Given the description of an element on the screen output the (x, y) to click on. 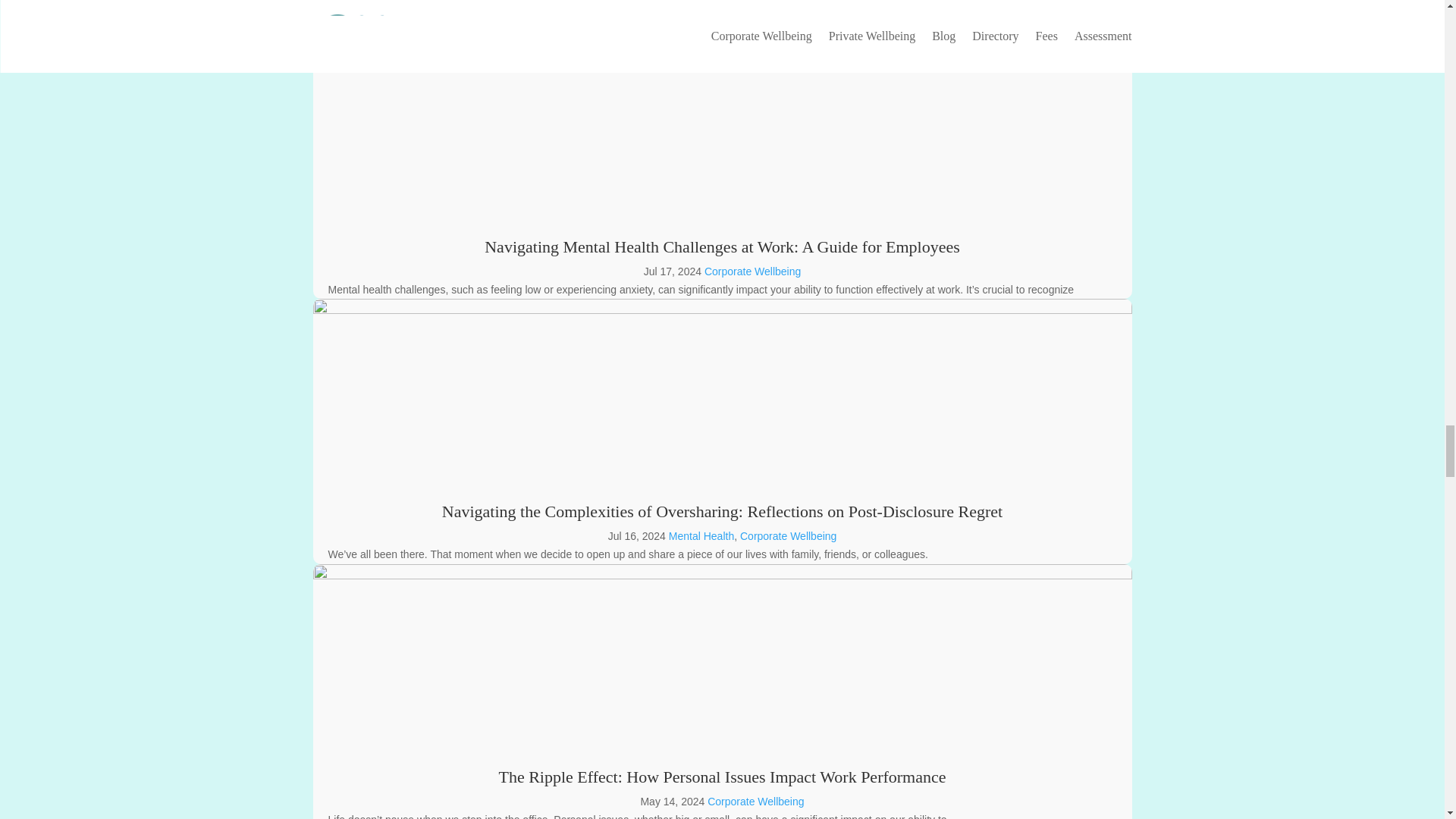
Corporate Wellbeing (755, 801)
Mental Health (700, 535)
Corporate Wellbeing (787, 535)
Corporate Wellbeing (752, 271)
